Given the description of an element on the screen output the (x, y) to click on. 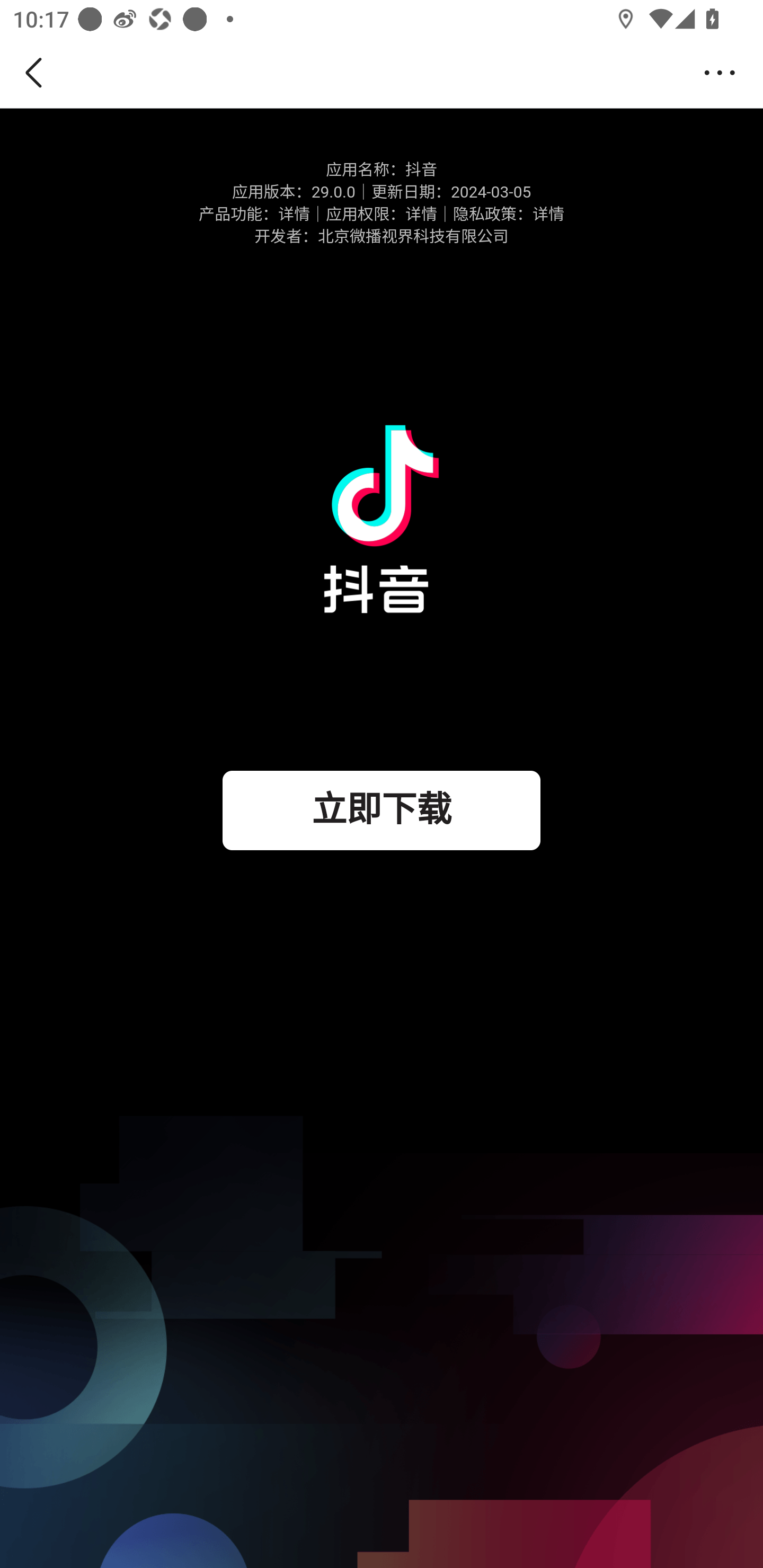
返回，按钮 (37, 72)
更多 (725, 72)
立即下载 (381, 810)
